Given the description of an element on the screen output the (x, y) to click on. 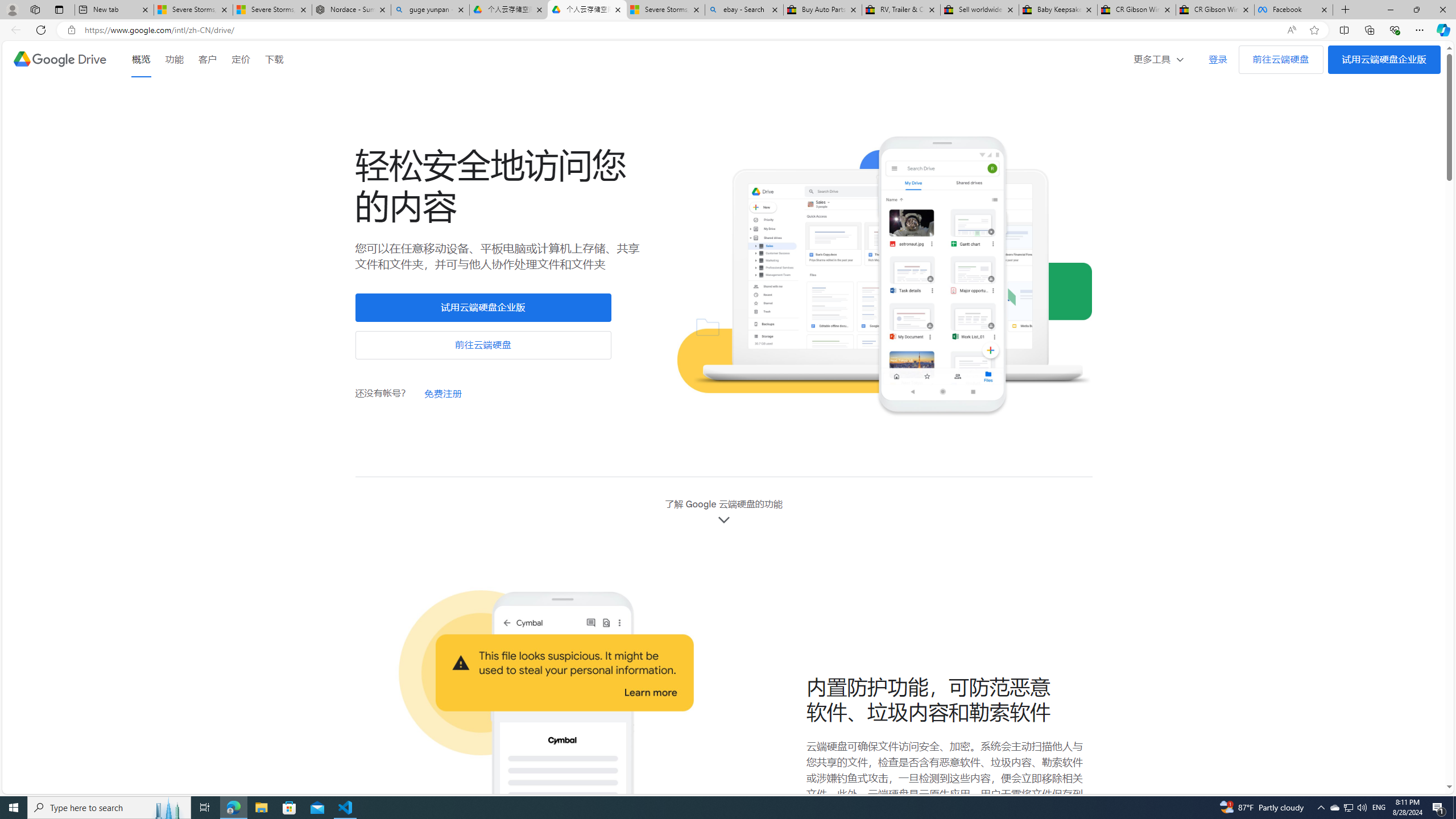
Buy Auto Parts & Accessories | eBay (822, 9)
guge yunpan - Search (429, 9)
